Given the description of an element on the screen output the (x, y) to click on. 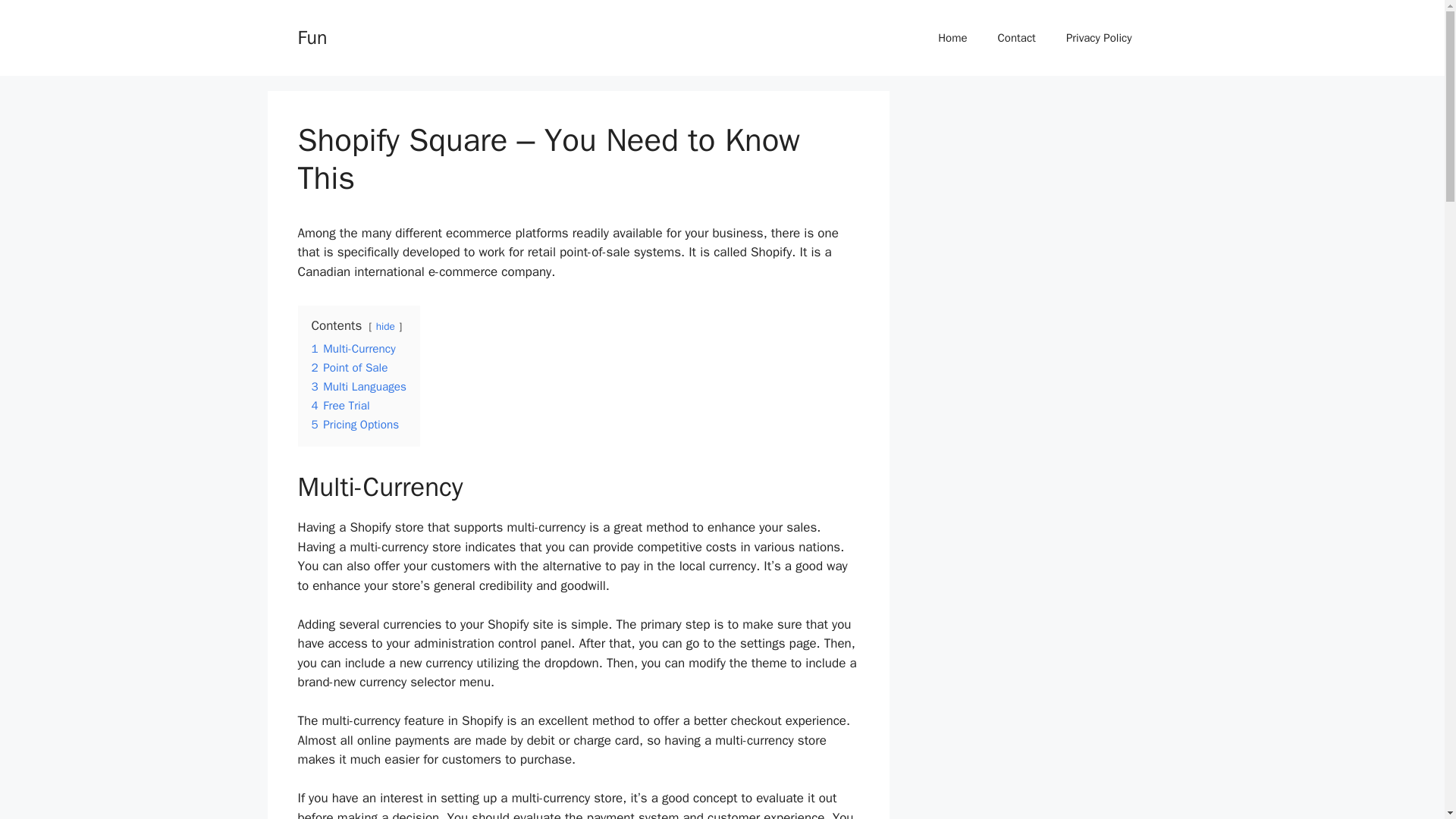
Privacy Policy (1099, 37)
Fun (311, 37)
Home (952, 37)
Contact (1016, 37)
3 Multi Languages (358, 386)
5 Pricing Options (354, 424)
2 Point of Sale (349, 367)
hide (384, 326)
4 Free Trial (340, 405)
1 Multi-Currency (352, 348)
